Given the description of an element on the screen output the (x, y) to click on. 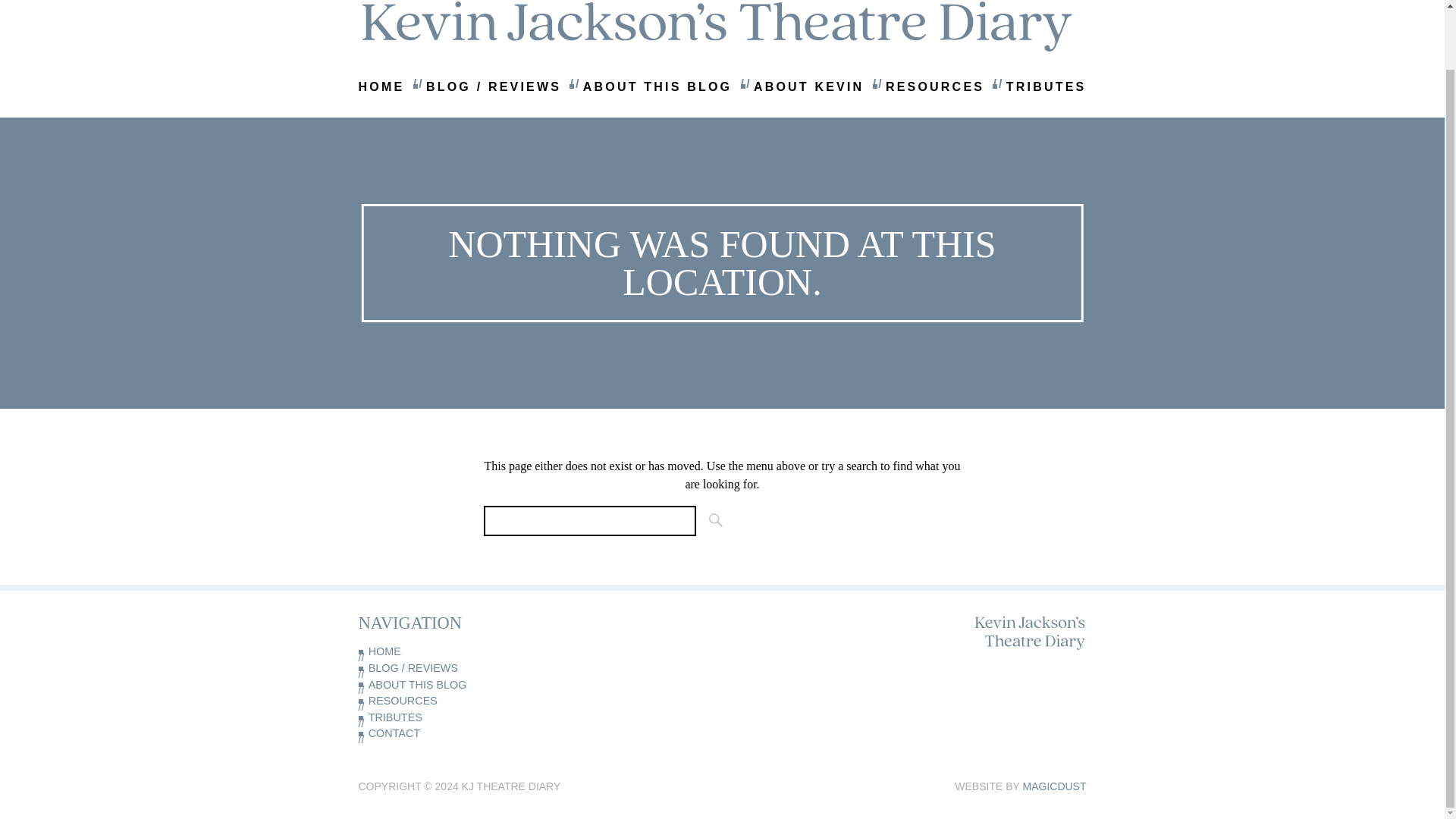
ABOUT KEVIN (808, 87)
MAGICDUST (1054, 786)
TRIBUTES (1046, 87)
ABOUT THIS BLOG (657, 87)
CONTACT (440, 733)
TRIBUTES (440, 718)
HOME (440, 651)
RESOURCES (440, 701)
ABOUT THIS BLOG (440, 685)
Search (710, 521)
HOME (381, 87)
RESOURCES (934, 87)
